Given the description of an element on the screen output the (x, y) to click on. 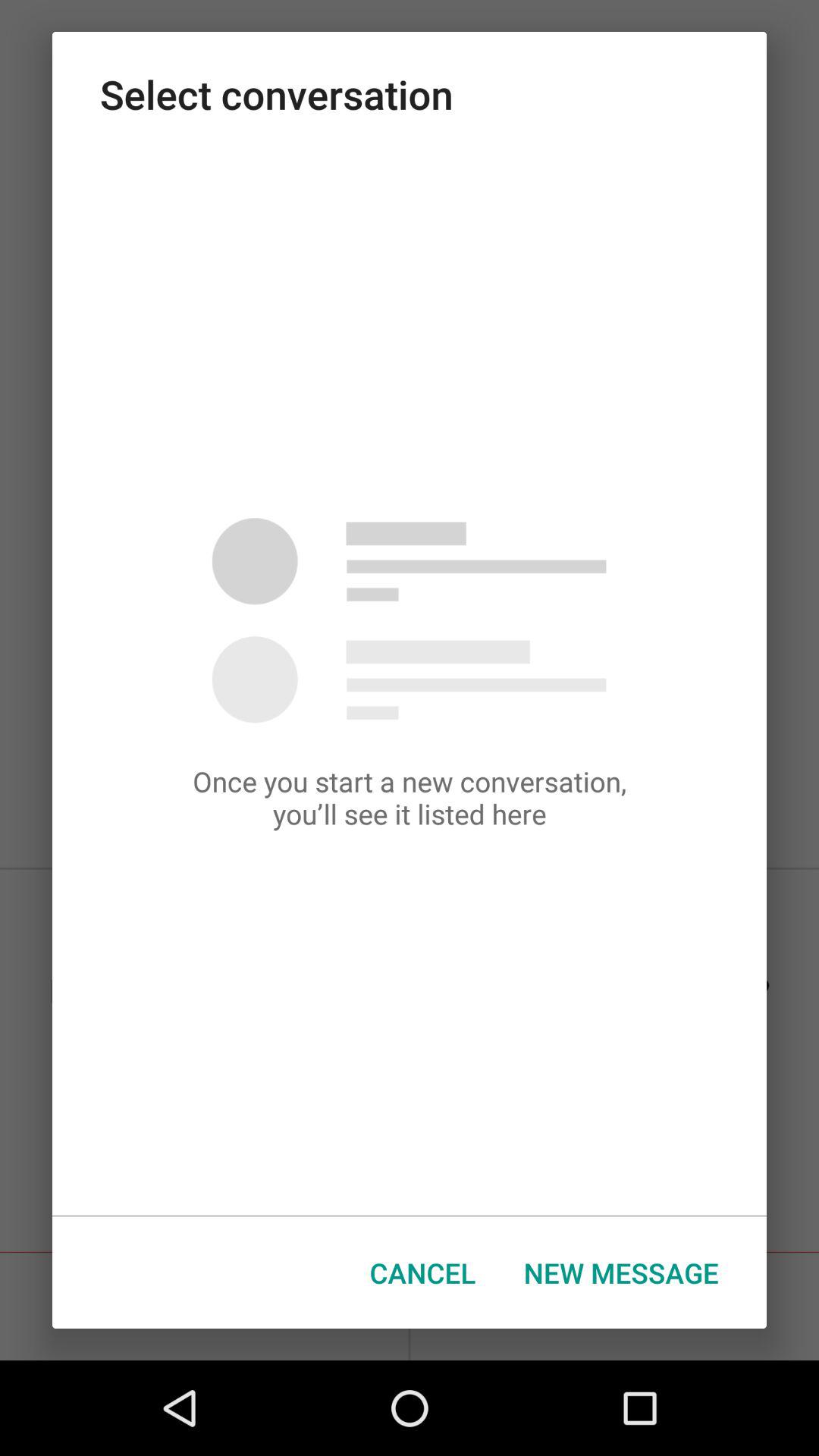
turn on the new message item (620, 1272)
